Given the description of an element on the screen output the (x, y) to click on. 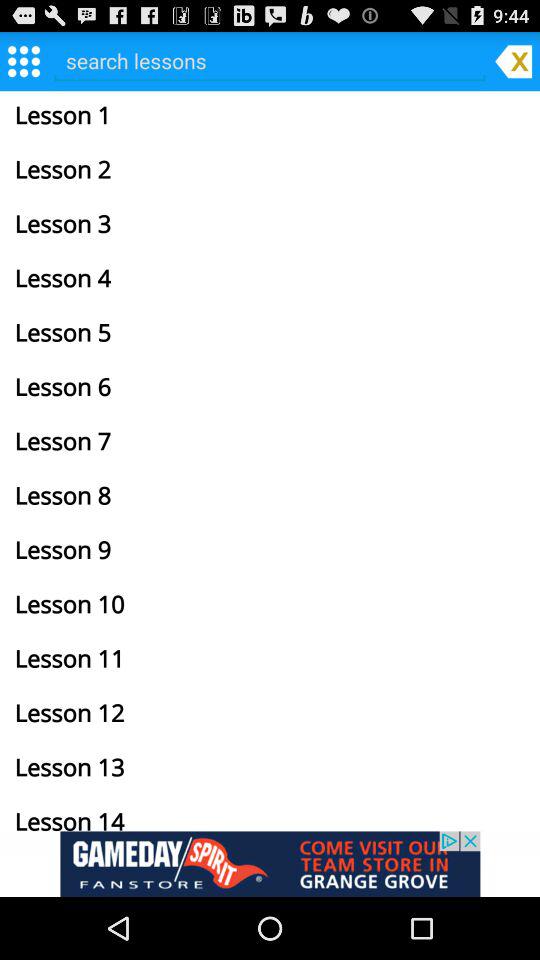
gameday fanstore link (270, 864)
